Given the description of an element on the screen output the (x, y) to click on. 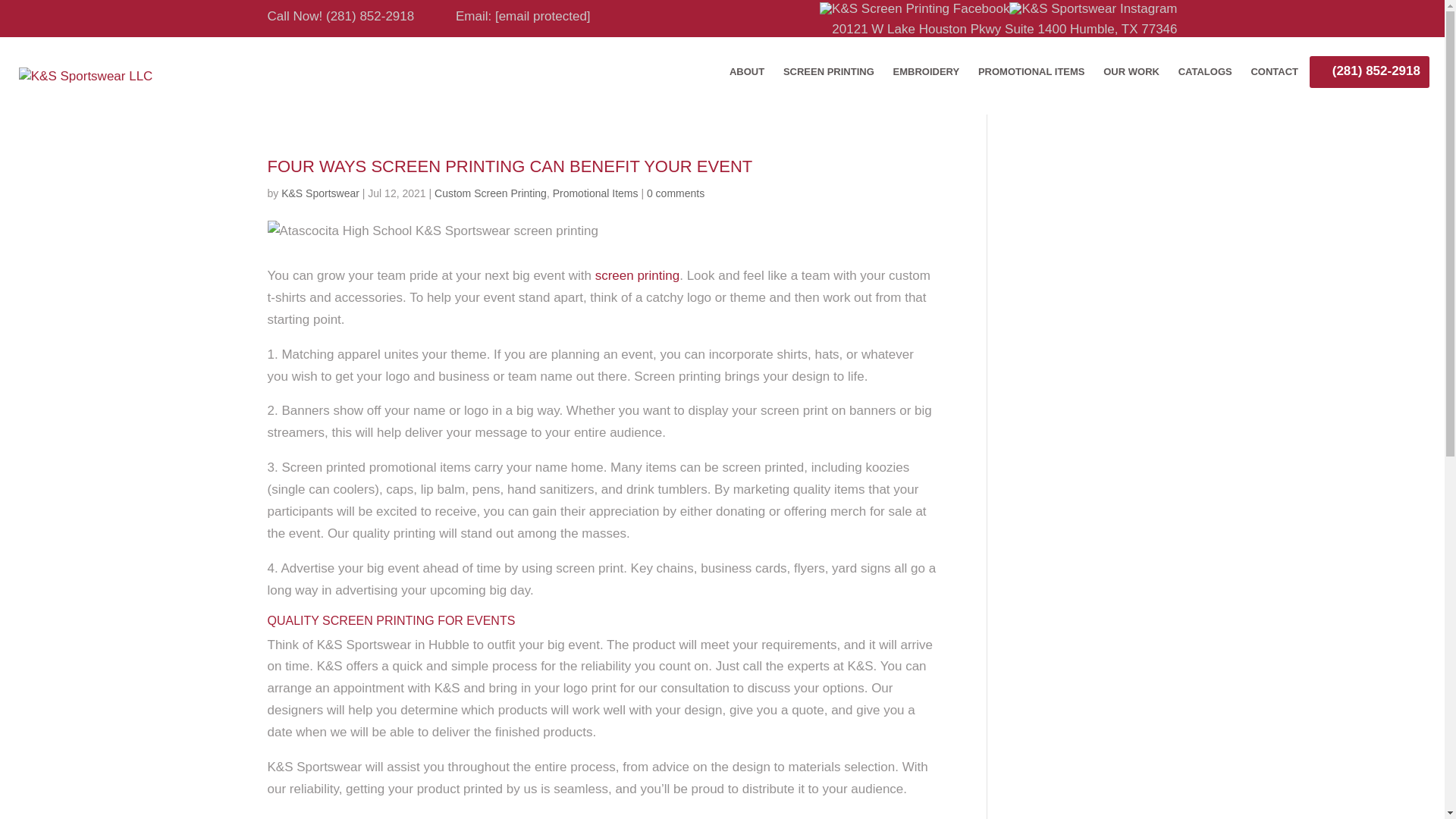
OUR WORK (1131, 82)
screen printing (637, 275)
Promotional Items (596, 193)
0 comments (675, 193)
Custom Screen Printing (490, 193)
CATALOGS (1205, 82)
Humble TX Custom Screen Printing Services (637, 275)
ABOUT (746, 82)
CONTACT (1274, 82)
PROMOTIONAL ITEMS (1032, 82)
